Given the description of an element on the screen output the (x, y) to click on. 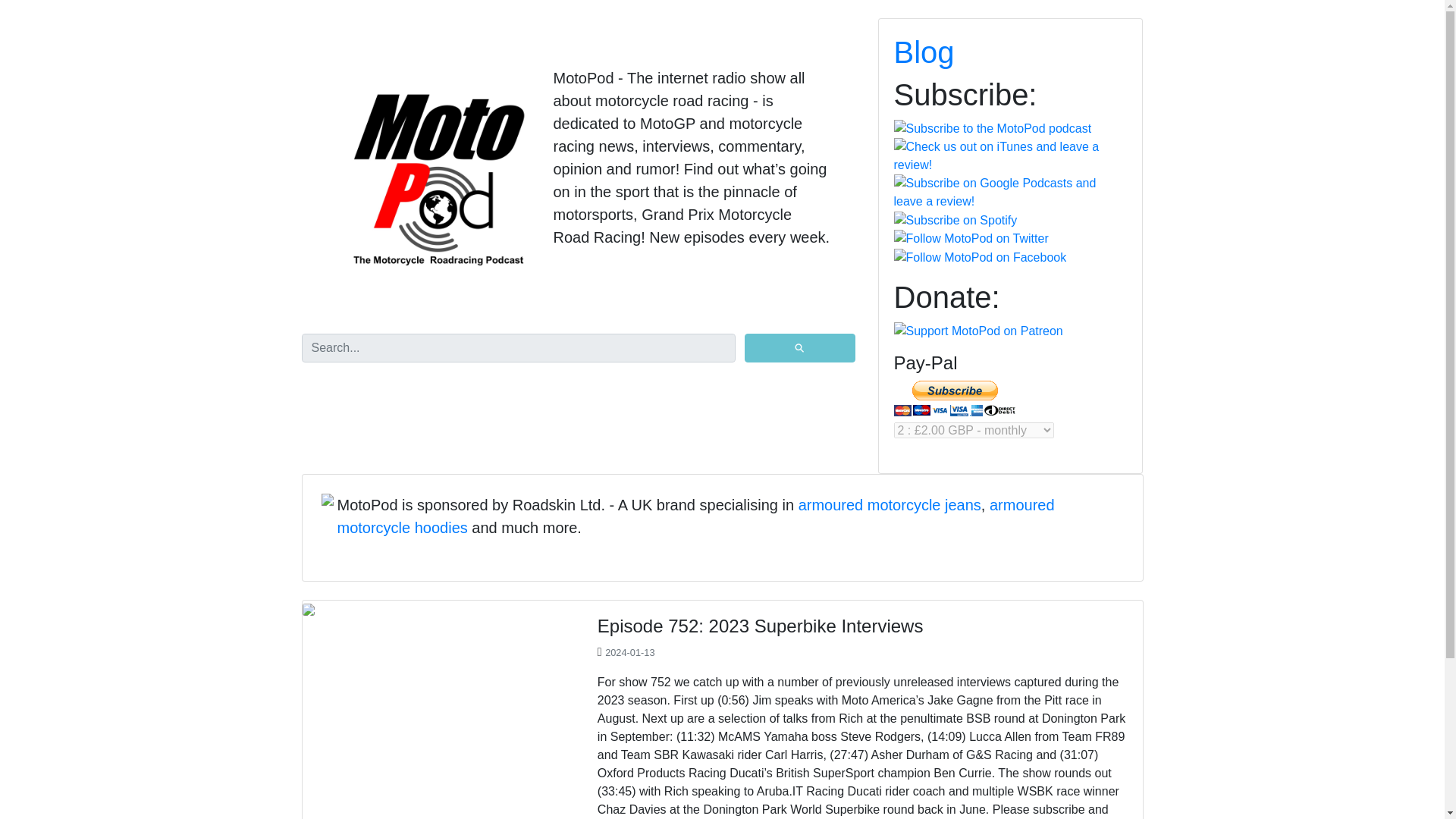
armoured motorcycle hoodies (695, 516)
Blog (923, 52)
Follow MotoPod on Twitter (970, 239)
Armoured Motorcycle Jeans (889, 504)
Follow MotoPod on Facebook (979, 257)
Subscribe on Spotify (954, 220)
armoured motorcycle jeans (889, 504)
Subscribe to the MotoPod podcast (991, 128)
Check us out on iTunes and leave a review! (1009, 156)
Subscribe on Google Podcasts and leave a review! (1009, 192)
